Given the description of an element on the screen output the (x, y) to click on. 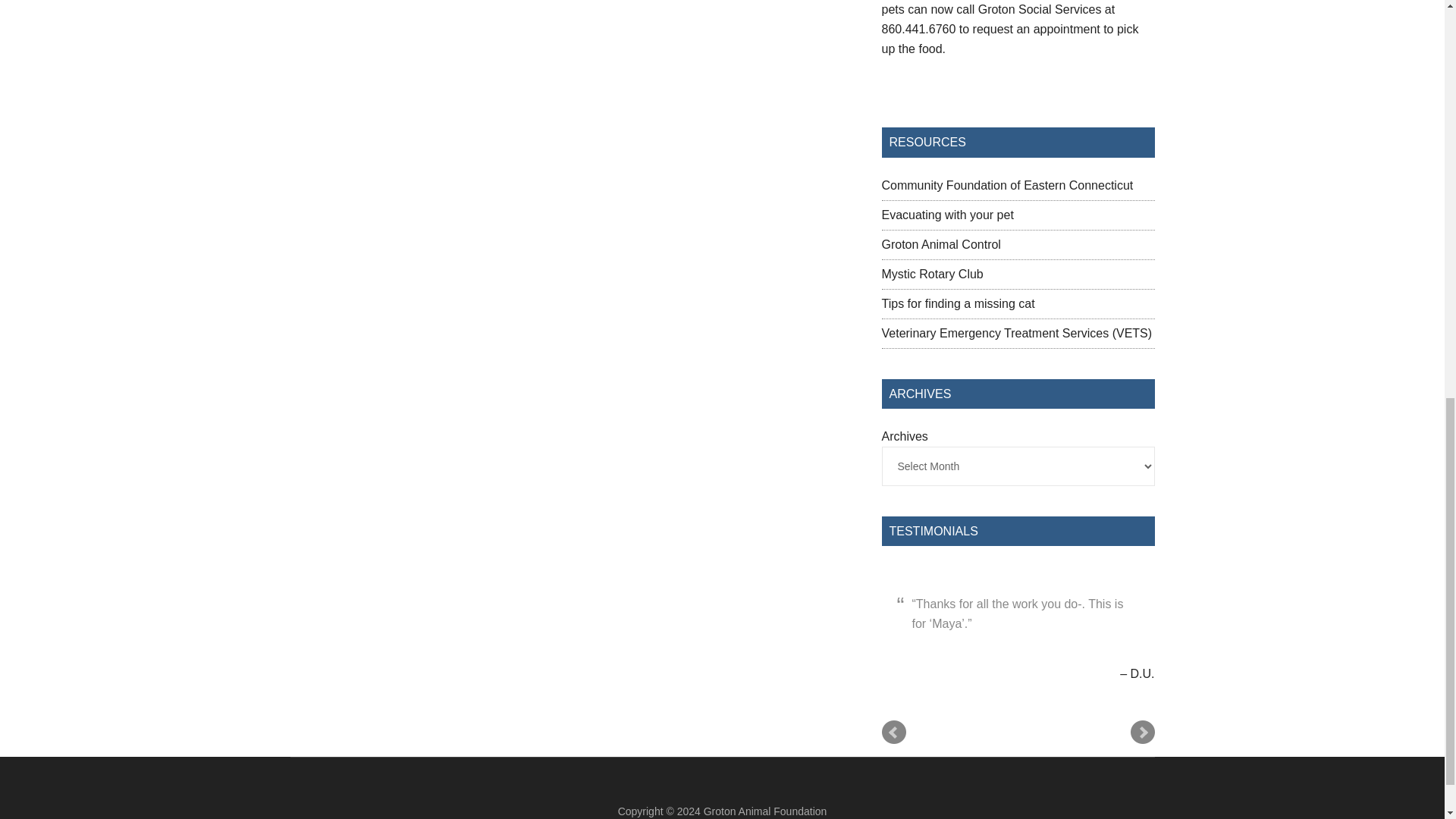
Groton Animal Control (940, 244)
Community Foundation of Eastern Connecticut (1006, 185)
Evacuating with your pet (946, 214)
Next (1141, 732)
A checklist for evacuating your home with your pets (946, 214)
Psychology and the Missing Cat (956, 303)
Mystic Rotary Club (931, 273)
Tips for finding a missing cat (956, 303)
Prev (892, 732)
